Given the description of an element on the screen output the (x, y) to click on. 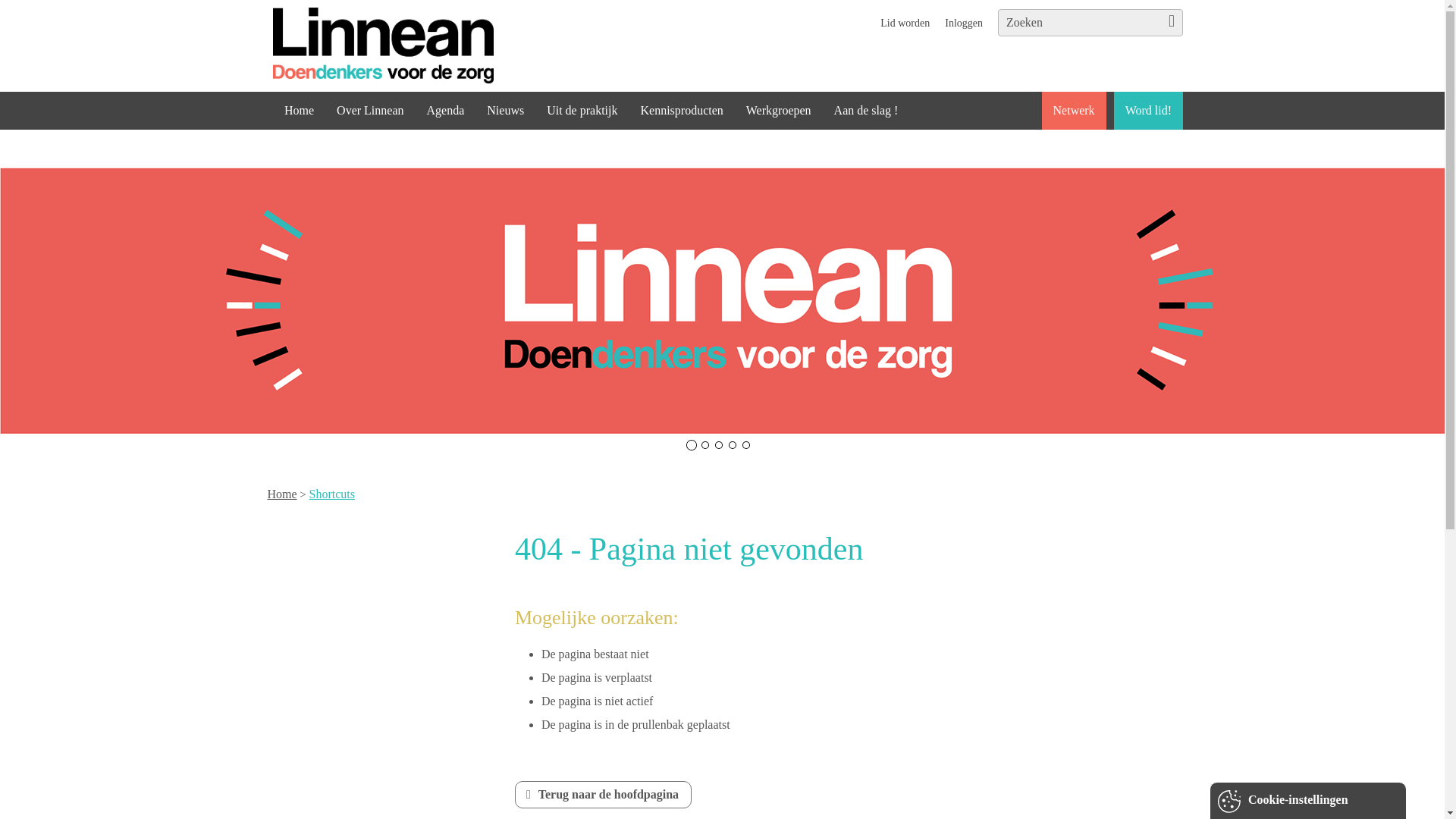
Kennisproducten (680, 110)
Linnean - Home (412, 45)
Lid worden (904, 22)
Agenda (445, 110)
Over Linnean (369, 110)
Zoeken (1169, 24)
Home (298, 110)
Inloggen (963, 22)
Werkgroepen (778, 110)
Uit de praktijk (581, 110)
Nieuws (505, 110)
